Given the description of an element on the screen output the (x, y) to click on. 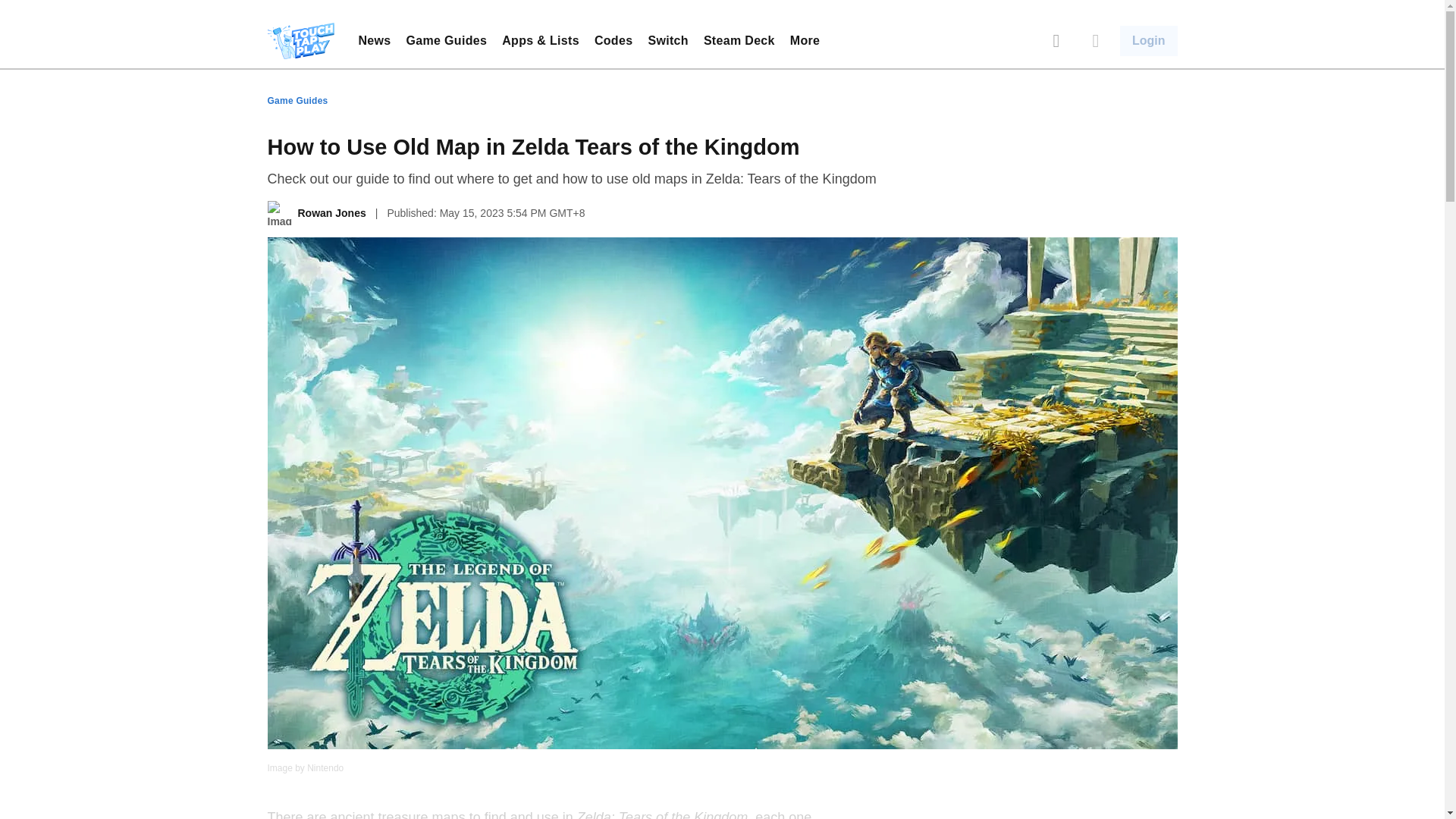
Game Guides (446, 40)
3rd party ad content (721, 785)
Login (1148, 40)
Dark Mode (1095, 40)
Search (1056, 40)
Codes (613, 40)
News (374, 40)
Switch (667, 40)
Steam Deck (738, 40)
